Given the description of an element on the screen output the (x, y) to click on. 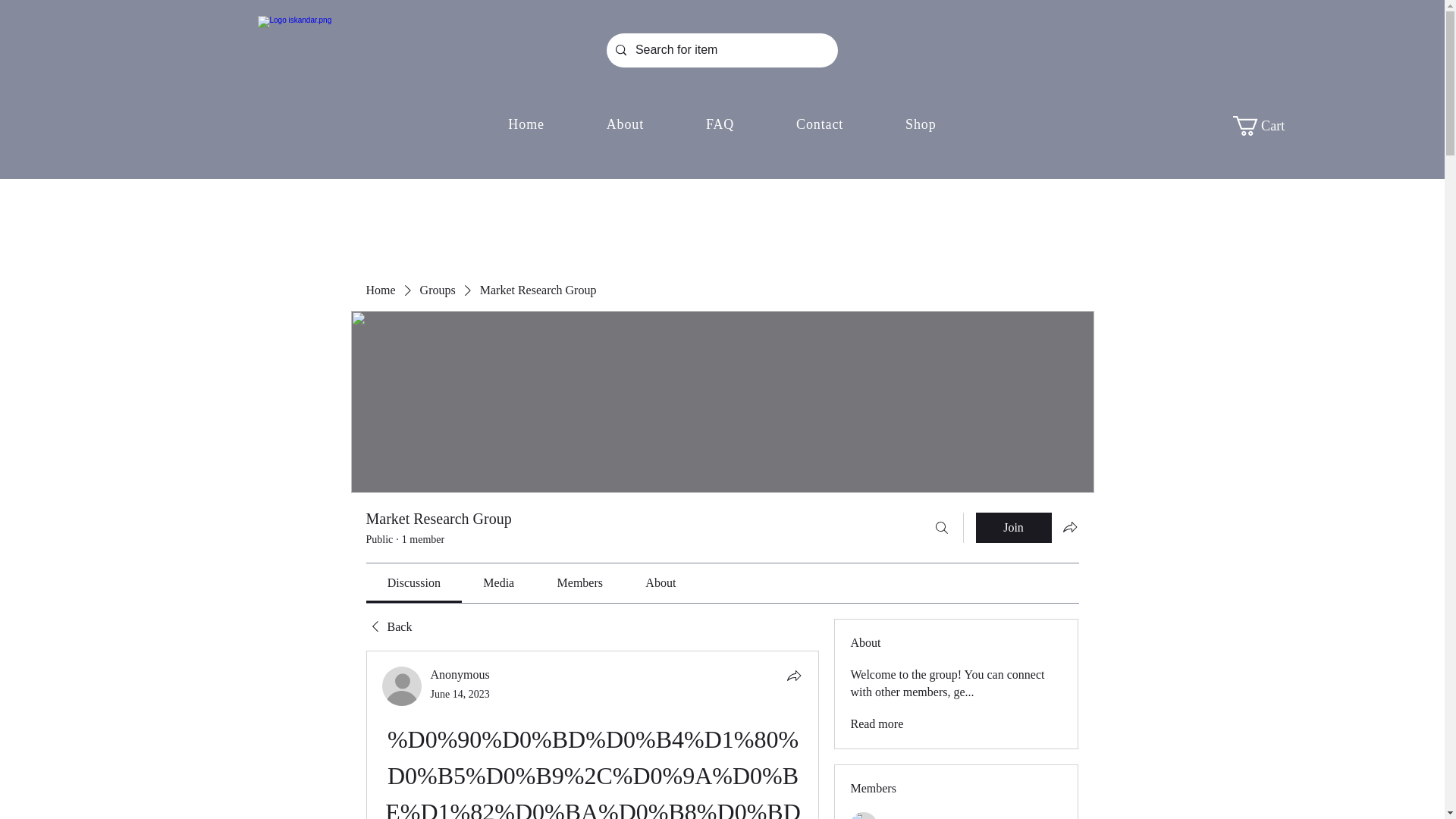
Azsimah  Aziz  (863, 815)
FAQ (719, 124)
Back (388, 627)
Azsimah Aziz (920, 818)
Cart (1269, 125)
Shop (920, 124)
Groups (437, 289)
June 14, 2023 (459, 694)
About (624, 124)
Anonymous (459, 674)
Cart (1269, 125)
Follow (1044, 818)
Home (526, 124)
Home (379, 289)
Join (1013, 527)
